Given the description of an element on the screen output the (x, y) to click on. 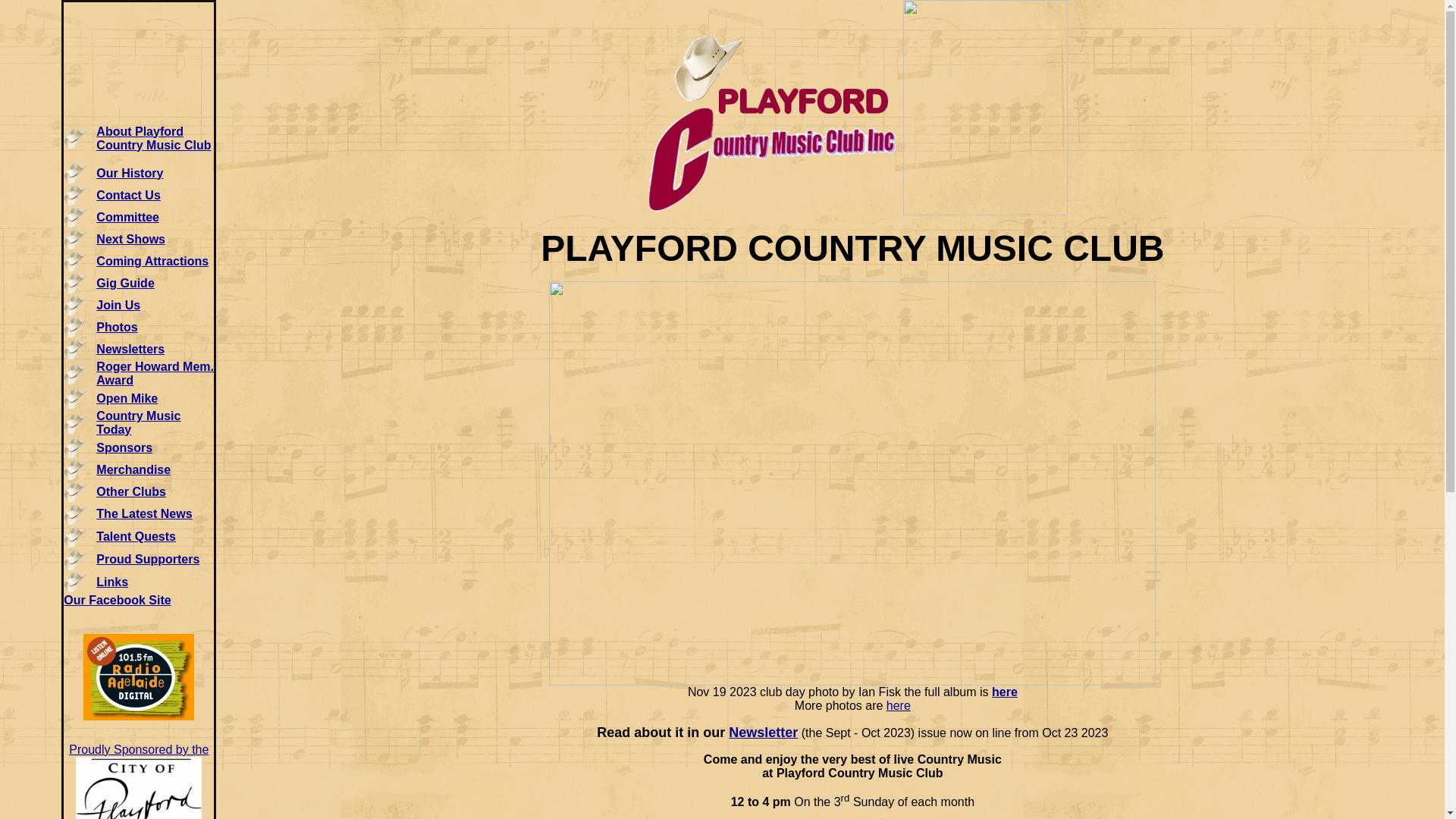
Country Music Today Element type: text (138, 422)
Gig Guide Element type: text (124, 282)
Sponsors Element type: text (124, 447)
Photos Element type: text (116, 326)
Links Element type: text (112, 580)
Roger Howard Mem. Award Element type: text (154, 373)
Committee Element type: text (127, 216)
Newsletter Element type: text (762, 732)
Join Us Element type: text (118, 304)
Newsletters Element type: text (130, 348)
Coming Attractions Element type: text (152, 260)
Contact Us Element type: text (128, 194)
Other Clubs Element type: text (131, 491)
Next Shows Element type: text (130, 238)
The Latest News Element type: text (143, 513)
Country Music Club Element type: text (153, 144)
Our History Element type: text (129, 172)
Merchandise Element type: text (133, 468)
Our Facebook Site Element type: text (116, 599)
Proud Supporters Element type: text (147, 558)
Open Mike Element type: text (126, 397)
here Element type: text (1004, 691)
About Playford Element type: text (139, 130)
Talent Quests Element type: text (135, 536)
here Element type: text (898, 705)
